Given the description of an element on the screen output the (x, y) to click on. 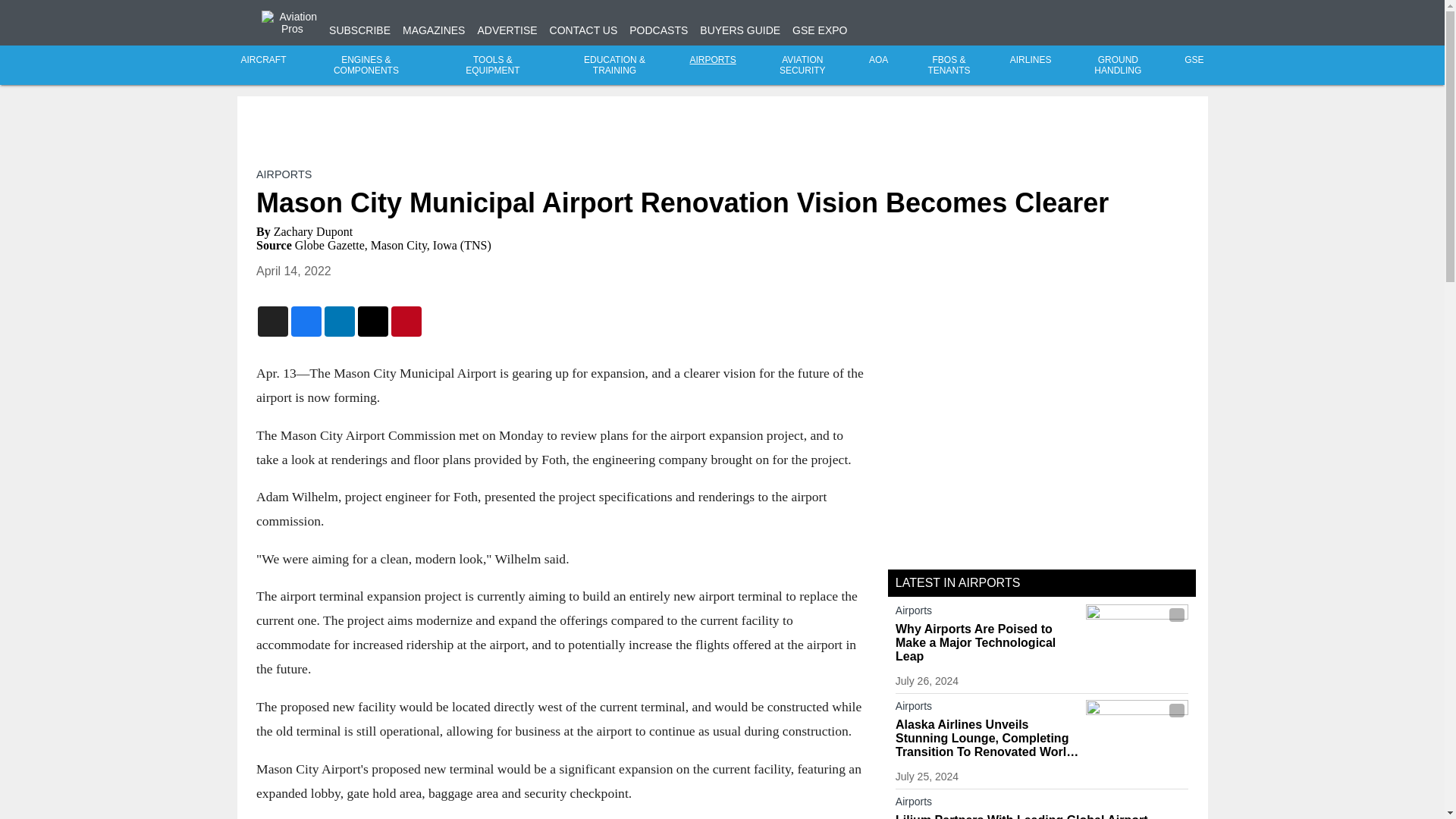
AIRPORTS (713, 59)
GSE (1194, 59)
AIRCRAFT (263, 59)
Why Airports Are Poised to Make a Major Technological Leap (986, 642)
GSE EXPO (819, 30)
MAGAZINES (433, 30)
AOA (878, 59)
Airports (986, 709)
LATEST IN AIRPORTS (957, 582)
AIRPORTS (283, 174)
ADVERTISE (507, 30)
GROUND HANDLING (1117, 65)
CONTACT US (583, 30)
Airports (1042, 804)
